Given the description of an element on the screen output the (x, y) to click on. 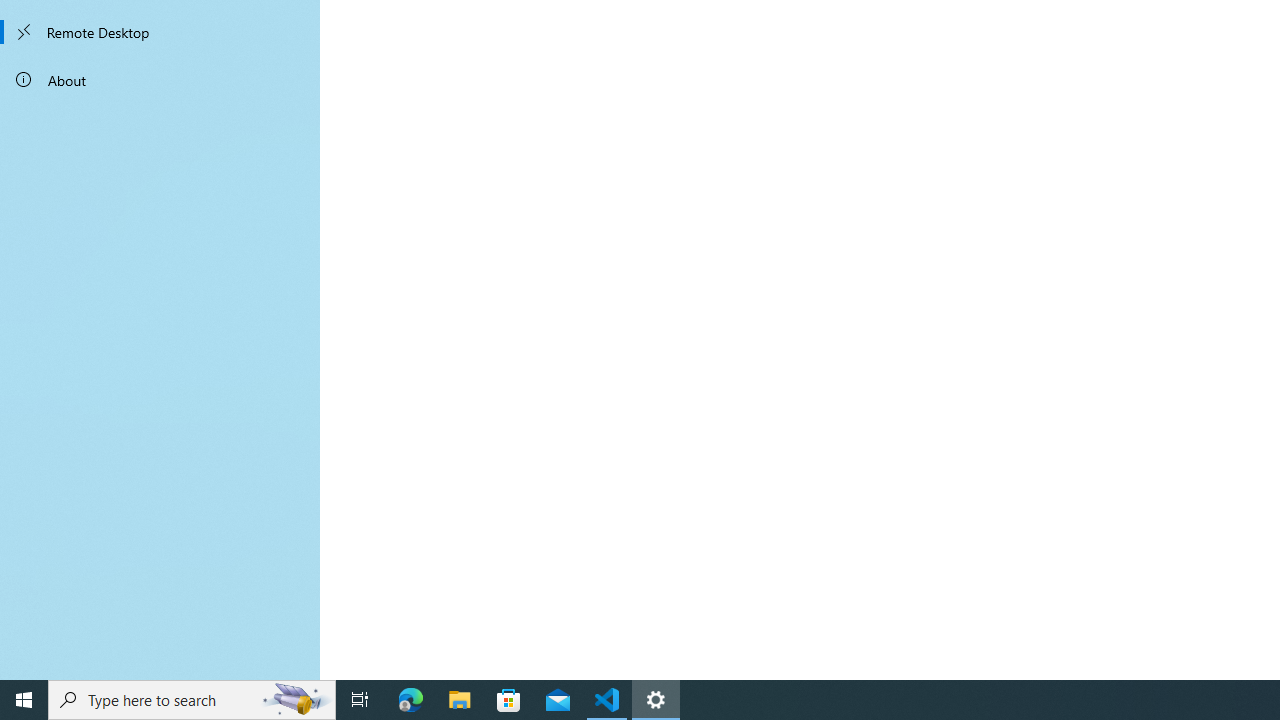
Visual Studio Code - 1 running window (607, 699)
Start (24, 699)
Task View (359, 699)
Type here to search (191, 699)
Microsoft Store (509, 699)
Microsoft Edge (411, 699)
Remote Desktop (160, 31)
Settings - 1 running window (656, 699)
File Explorer (460, 699)
About (160, 79)
Search highlights icon opens search home window (295, 699)
